Given the description of an element on the screen output the (x, y) to click on. 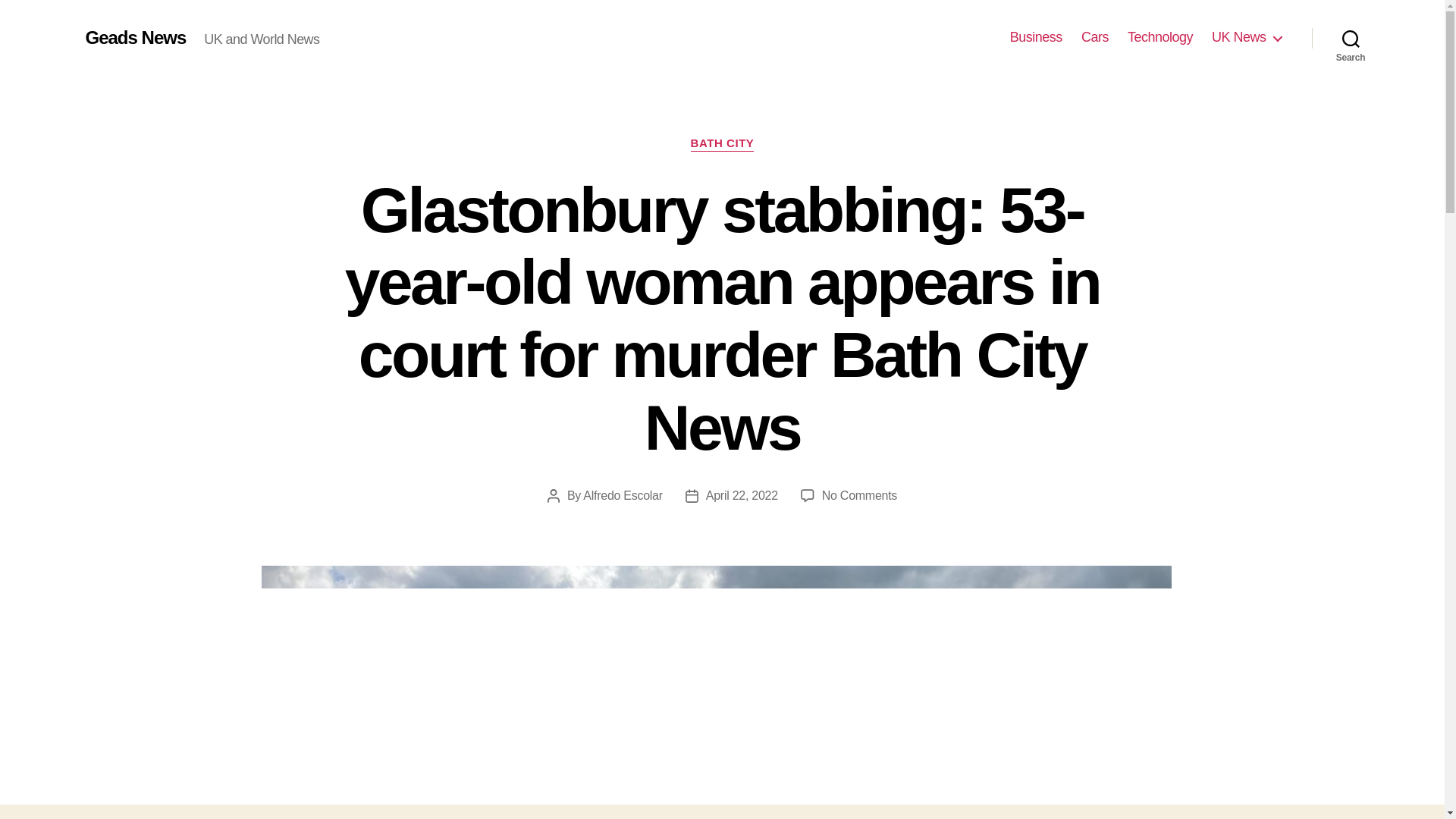
Alfredo Escolar (622, 495)
Business (1036, 37)
UK News (1246, 37)
Geads News (135, 37)
BATH CITY (722, 143)
Cars (1094, 37)
Search (1350, 37)
April 22, 2022 (741, 495)
Technology (1159, 37)
